Given the description of an element on the screen output the (x, y) to click on. 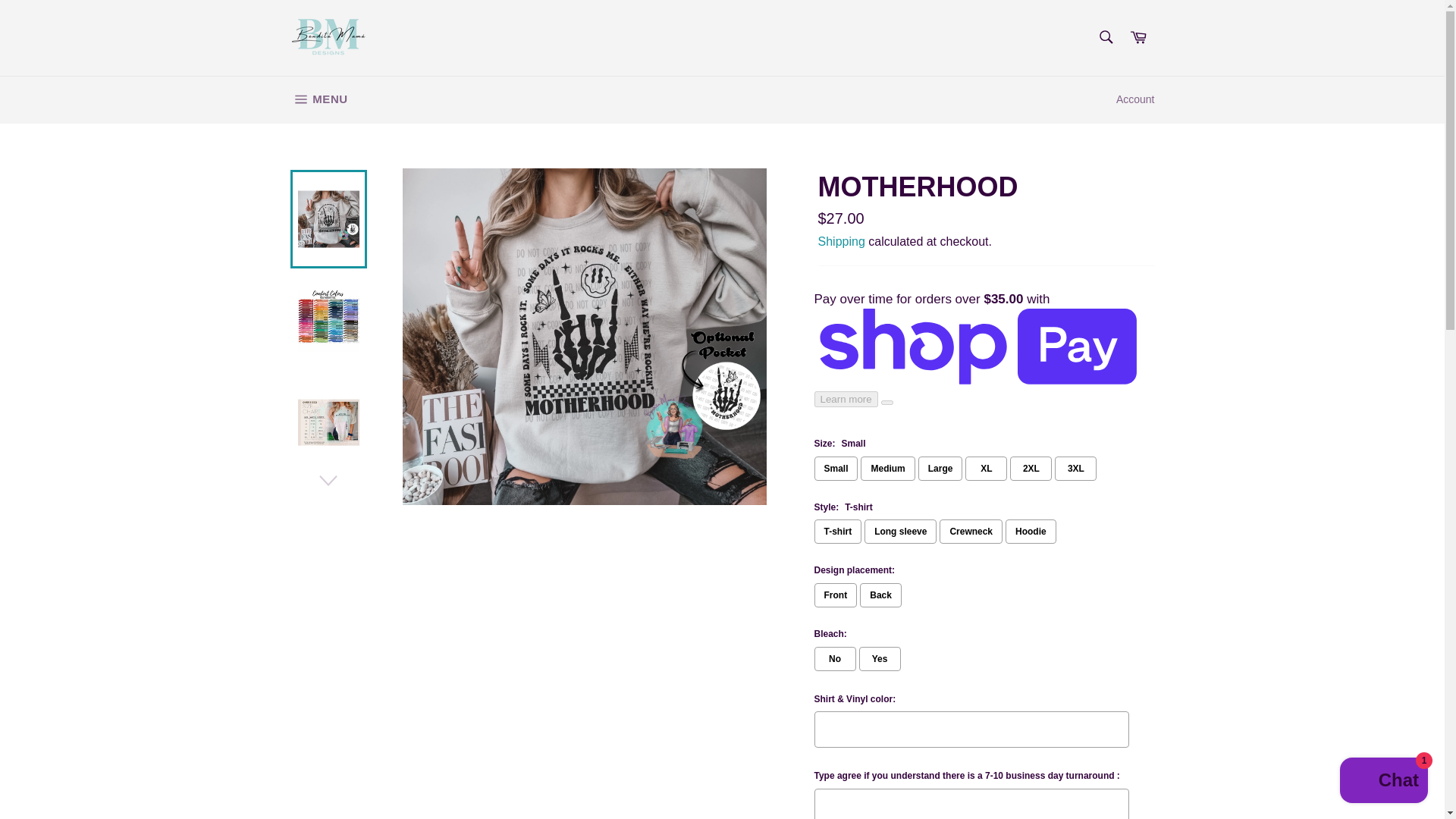
Shopify online store chat (1383, 781)
